Given the description of an element on the screen output the (x, y) to click on. 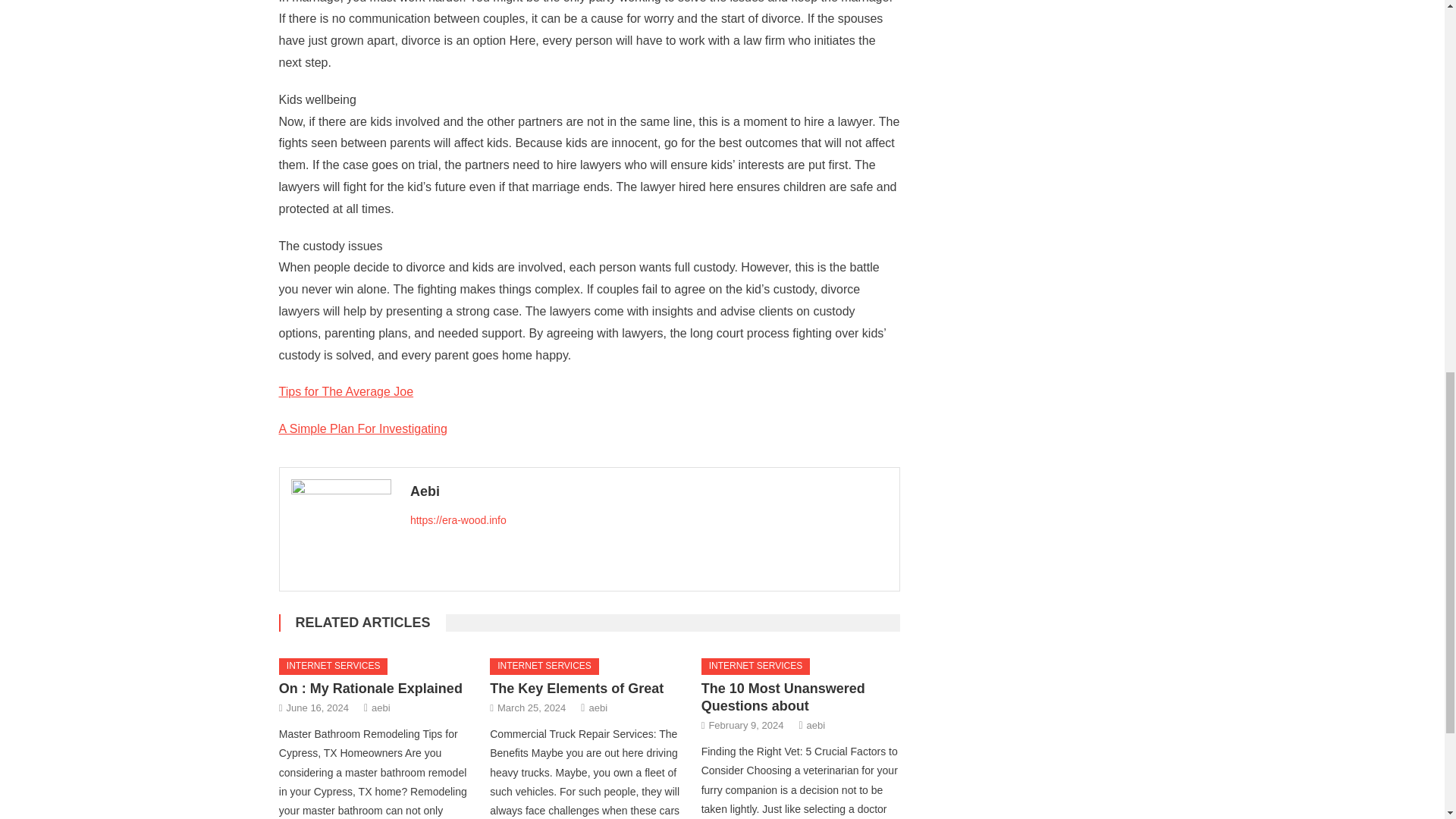
aebi (597, 707)
On : My Rationale Explained (371, 688)
aebi (380, 707)
February 9, 2024 (745, 724)
INTERNET SERVICES (333, 666)
June 16, 2024 (317, 707)
Tips for The Average Joe (346, 391)
aebi (815, 724)
A Simple Plan For Investigating (362, 428)
March 25, 2024 (531, 707)
Aebi (649, 491)
INTERNET SERVICES (543, 666)
The Key Elements of Great (576, 688)
The 10 Most Unanswered Questions about (782, 696)
INTERNET SERVICES (755, 666)
